Given the description of an element on the screen output the (x, y) to click on. 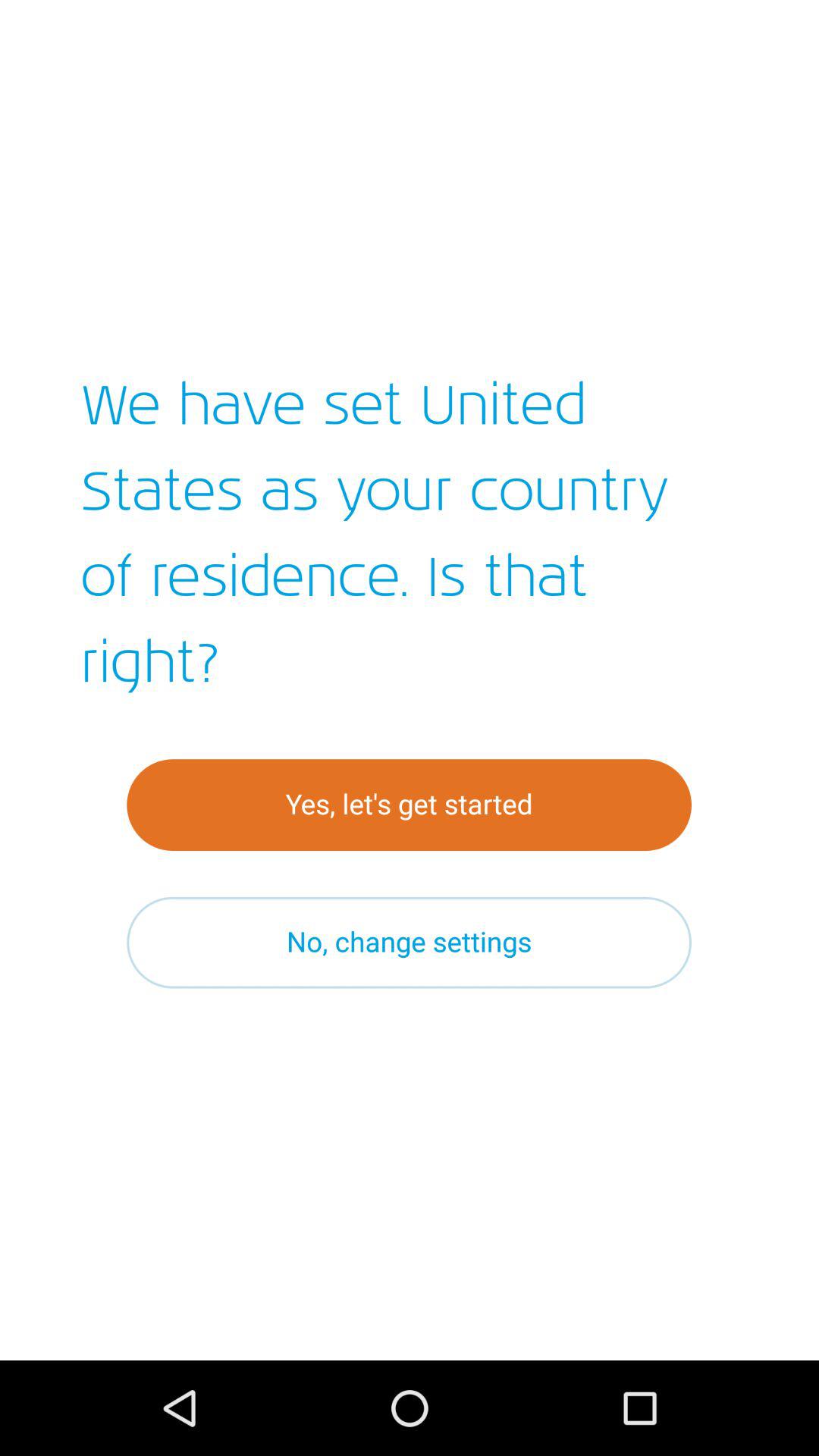
swipe to yes let s item (408, 804)
